Given the description of an element on the screen output the (x, y) to click on. 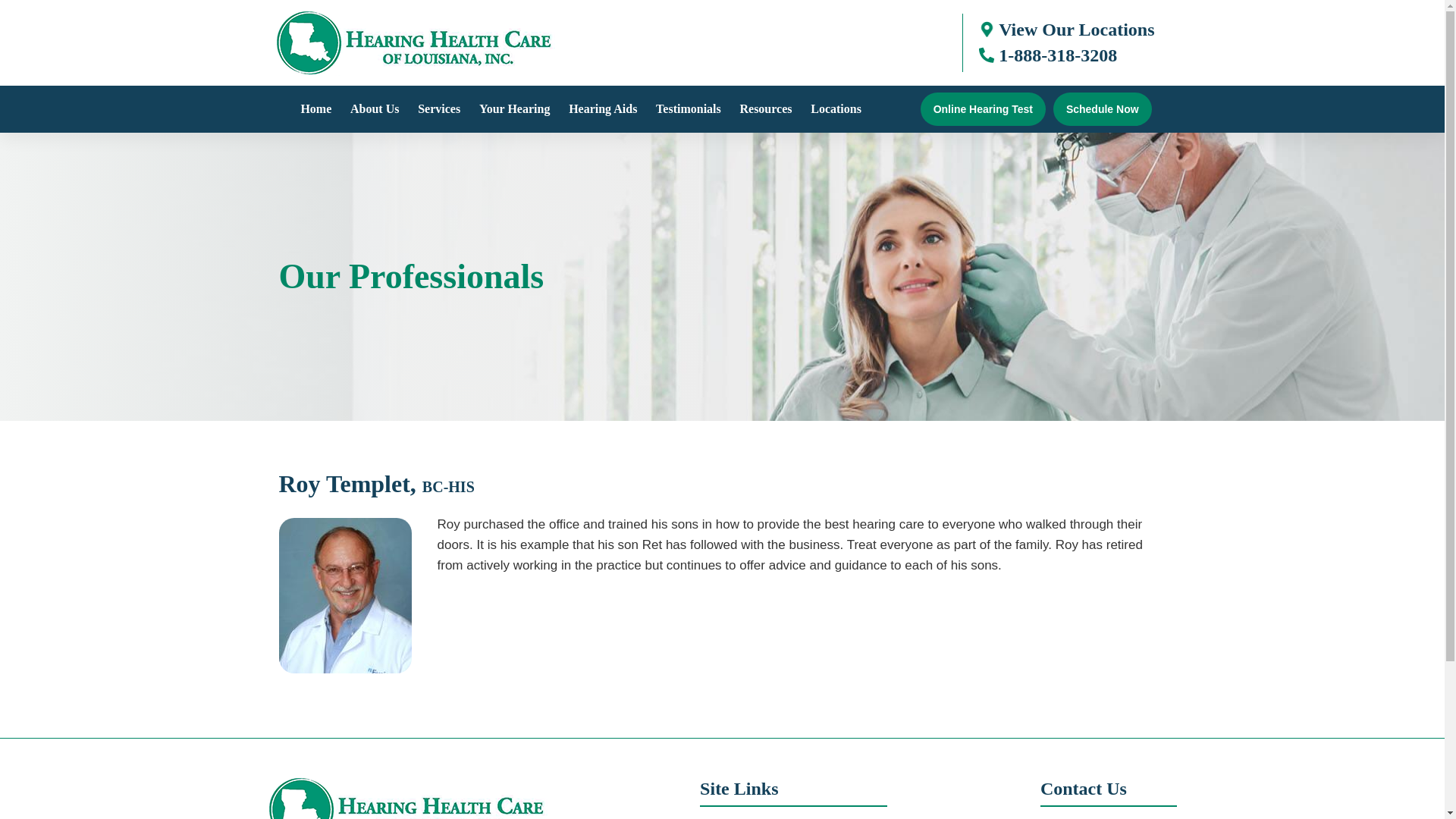
Resources (765, 108)
Hearing Aids (602, 108)
About Us (374, 108)
View Our Locations (1076, 29)
Testimonials (688, 108)
1-888-318-3208 (1057, 55)
Services (438, 108)
Home (315, 108)
Your Hearing (514, 108)
